Given the description of an element on the screen output the (x, y) to click on. 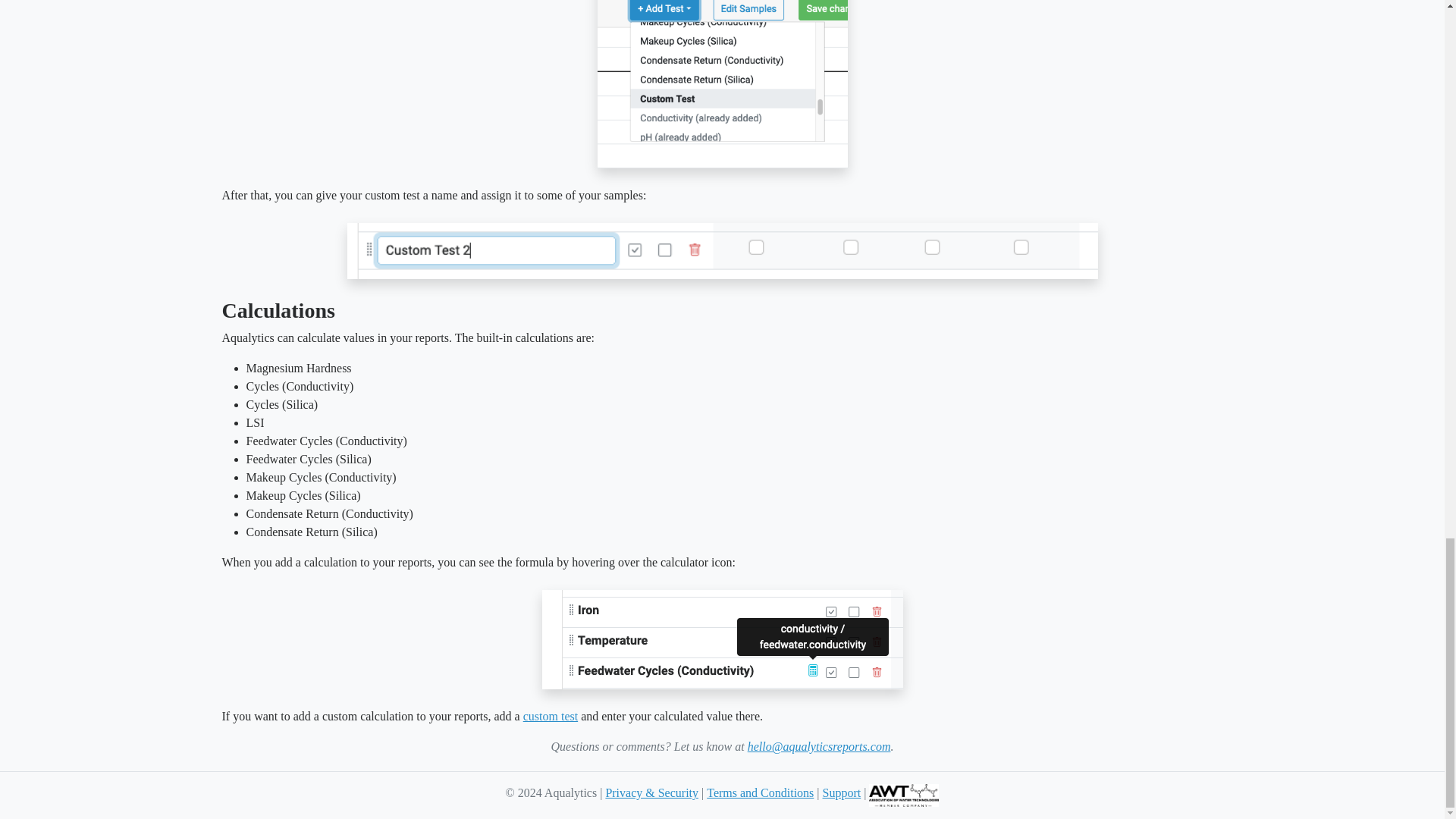
Terms and Conditions (759, 792)
Support (841, 792)
custom test (550, 716)
